Given the description of an element on the screen output the (x, y) to click on. 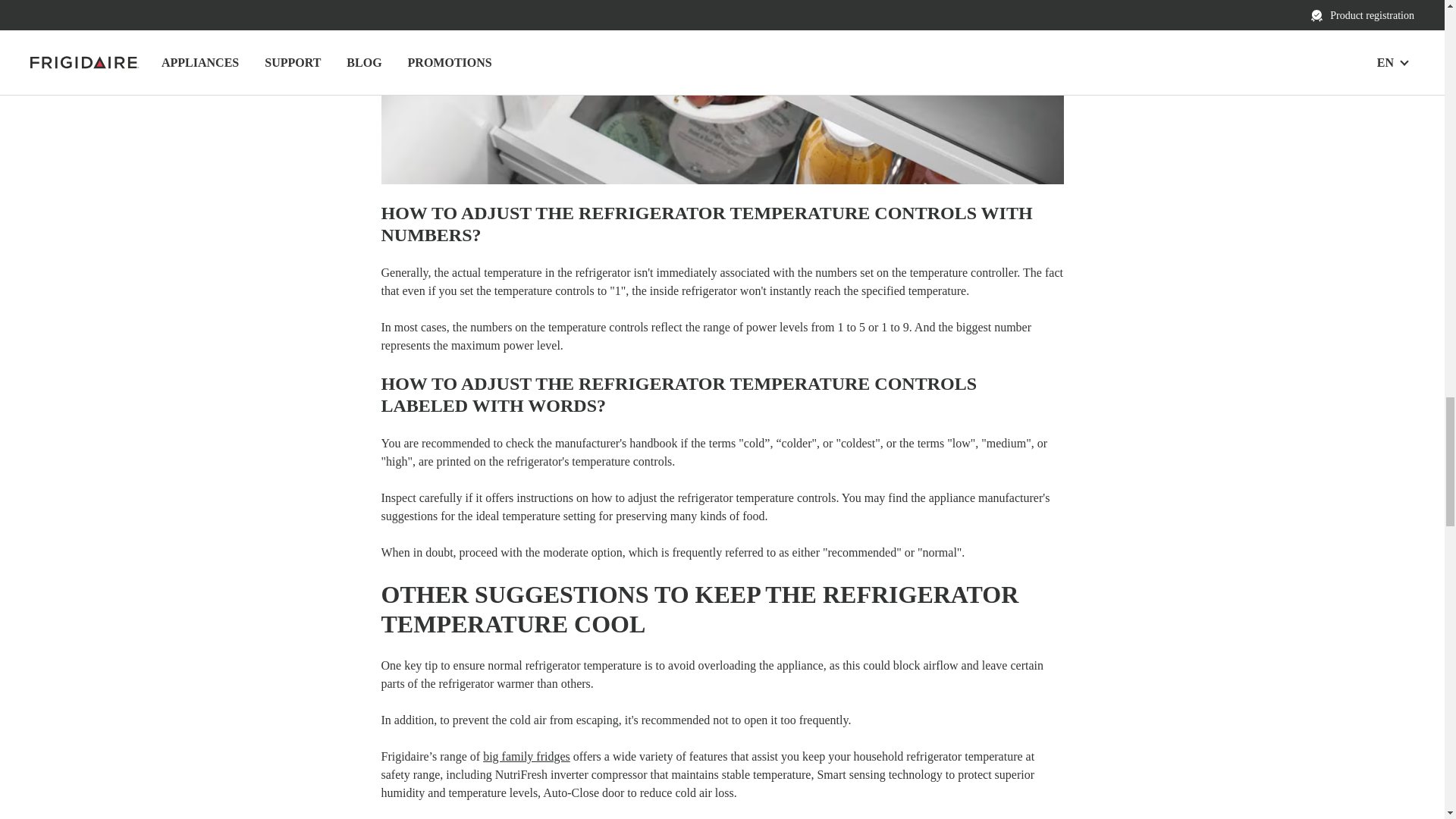
big family fridges (526, 756)
